Given the description of an element on the screen output the (x, y) to click on. 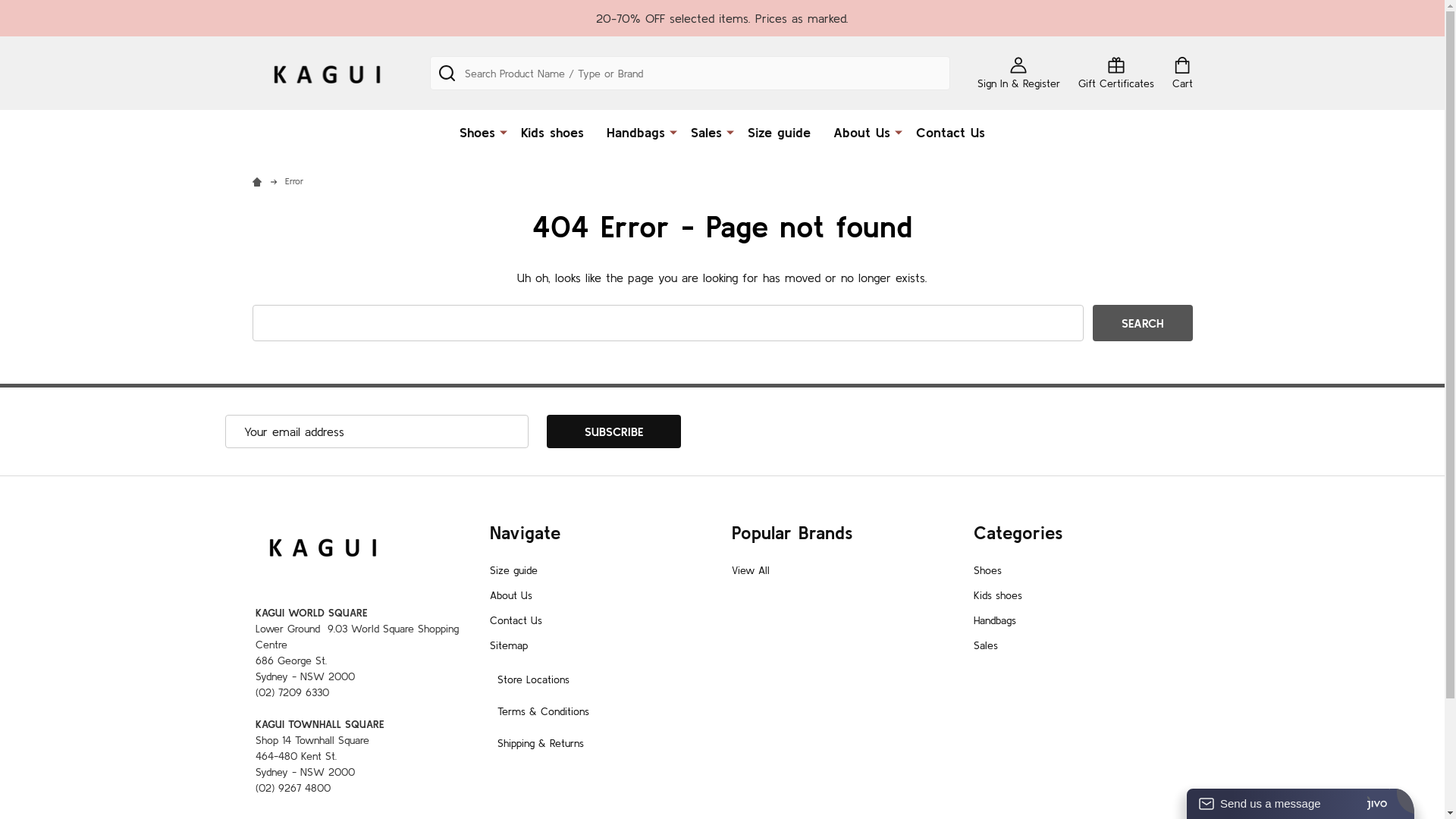
Contact Us Element type: text (515, 620)
Contact Us Element type: text (950, 131)
About Us Element type: text (510, 595)
About Us Element type: text (858, 131)
Search Element type: text (1142, 322)
Sitemap Element type: text (508, 645)
Gift Certificates Element type: text (1116, 72)
Kids shoes Element type: text (552, 131)
More Element type: hover (730, 130)
Kids shoes Element type: text (997, 595)
View All Element type: text (749, 570)
Handbags Element type: text (632, 131)
Kagui Element type: hover (325, 72)
Size guide Element type: text (513, 570)
Sales Element type: text (985, 645)
Size guide Element type: text (778, 131)
More Element type: hover (673, 130)
Store Locations Element type: text (533, 679)
More Element type: hover (898, 130)
Shoes Element type: text (473, 131)
Sales Element type: text (702, 131)
Handbags Element type: text (994, 620)
Shoes Element type: text (987, 570)
More Element type: hover (503, 130)
Shipping & Returns Element type: text (540, 743)
Error Element type: text (294, 180)
SUBSCRIBE Element type: text (613, 431)
Sign In & Register Element type: text (1017, 72)
Cart Element type: text (1182, 72)
Terms & Conditions Element type: text (543, 711)
Kagui Element type: hover (321, 546)
